Given the description of an element on the screen output the (x, y) to click on. 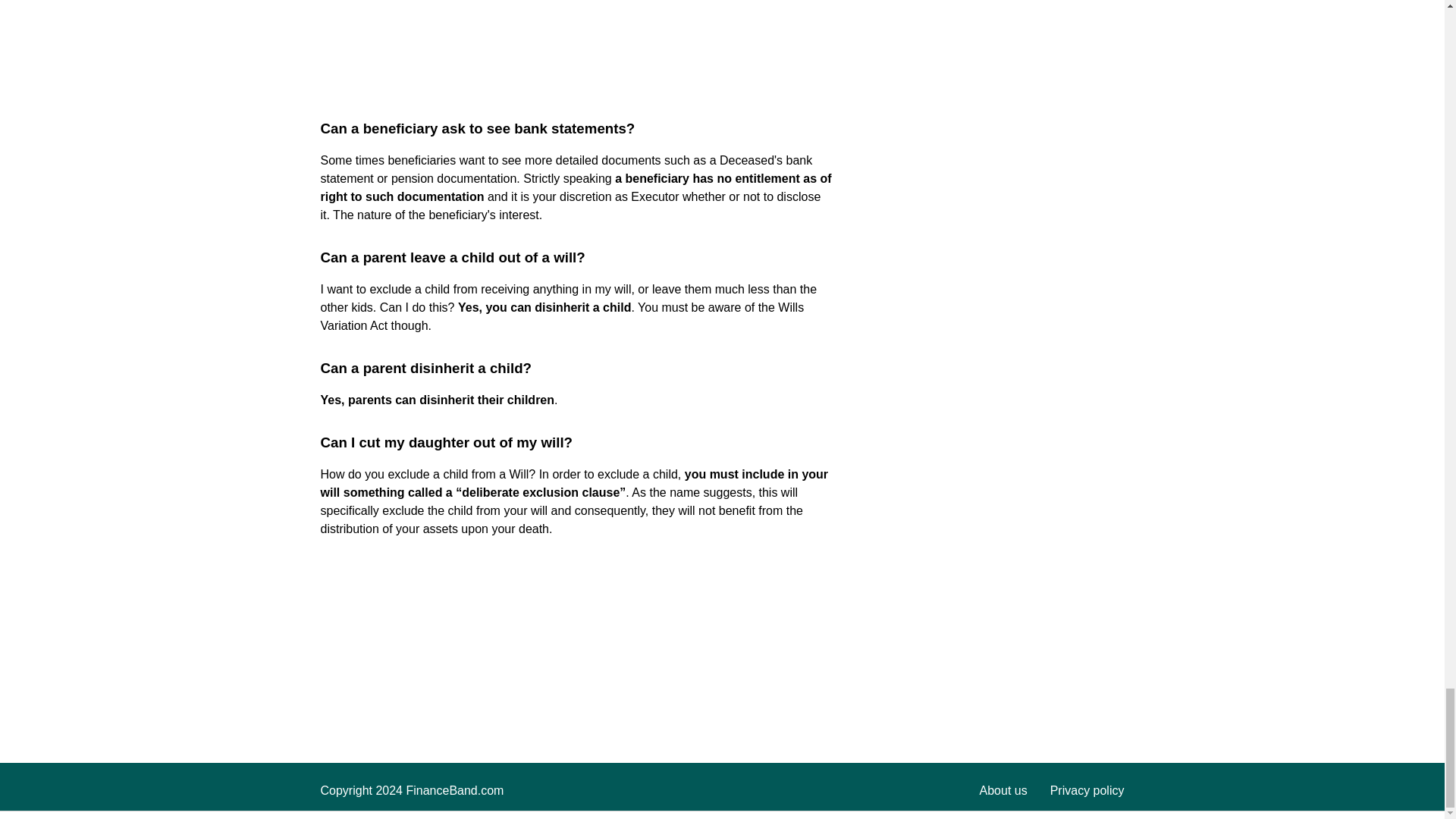
About us (1003, 790)
